Given the description of an element on the screen output the (x, y) to click on. 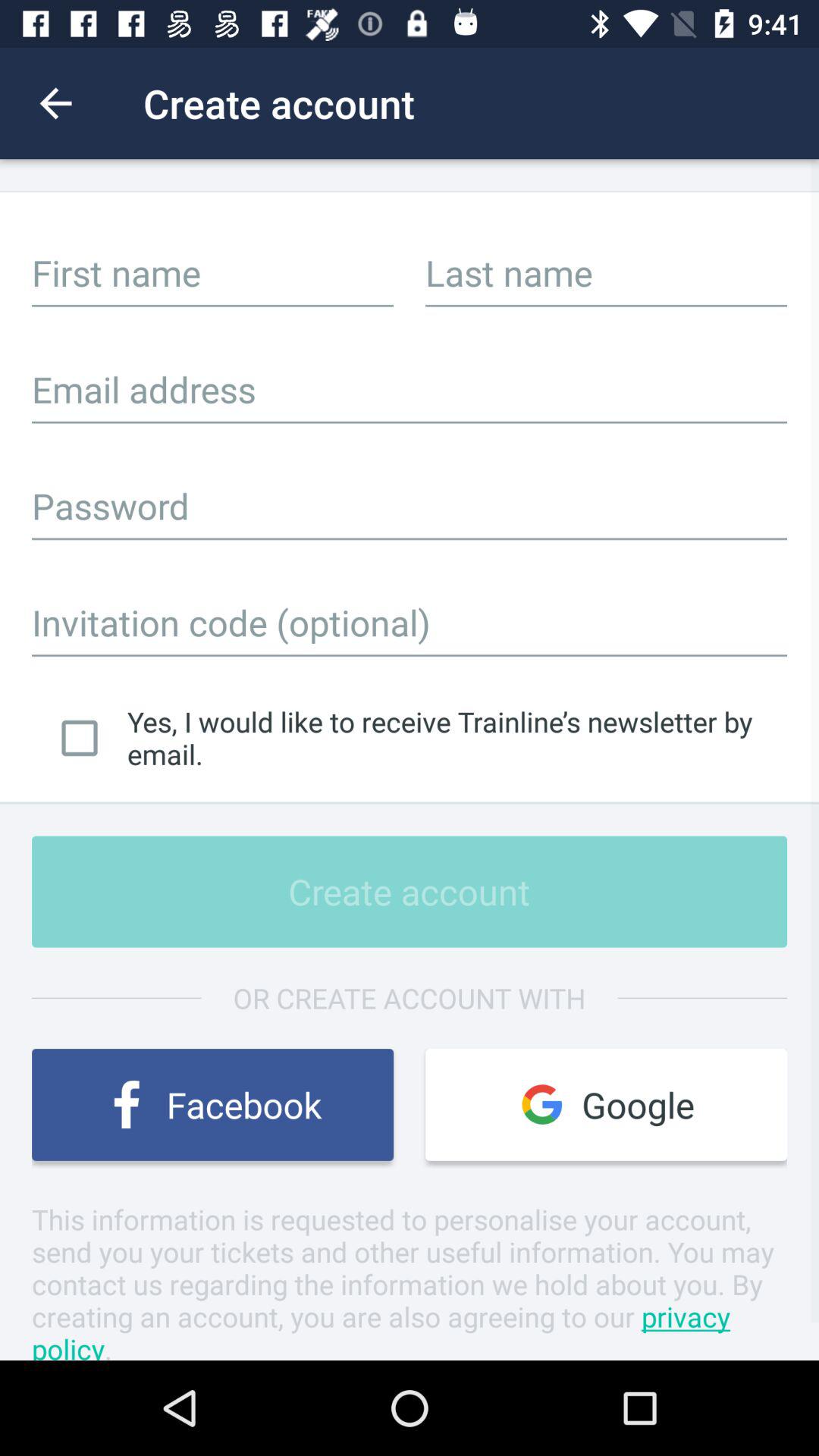
scroll until this information is item (409, 1280)
